Given the description of an element on the screen output the (x, y) to click on. 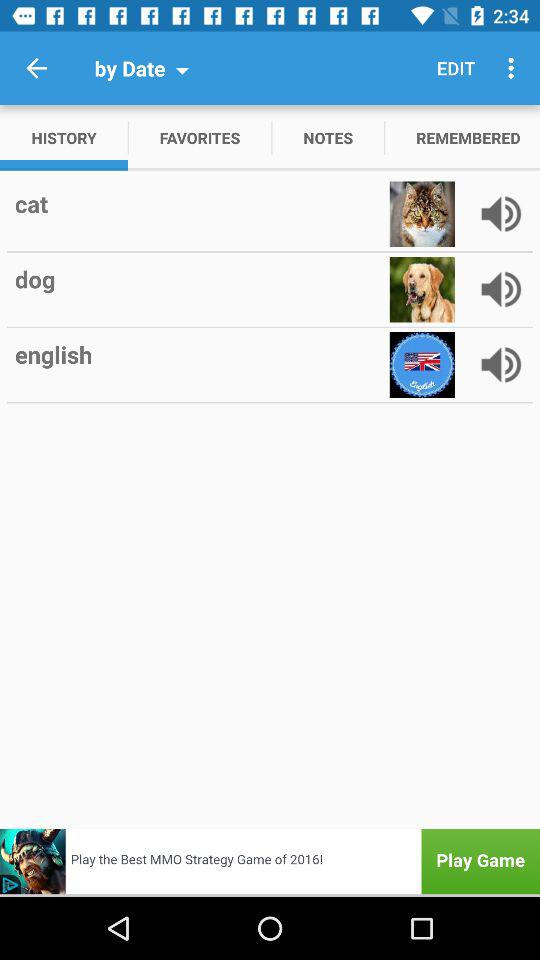
play a dog barking (501, 289)
